Given the description of an element on the screen output the (x, y) to click on. 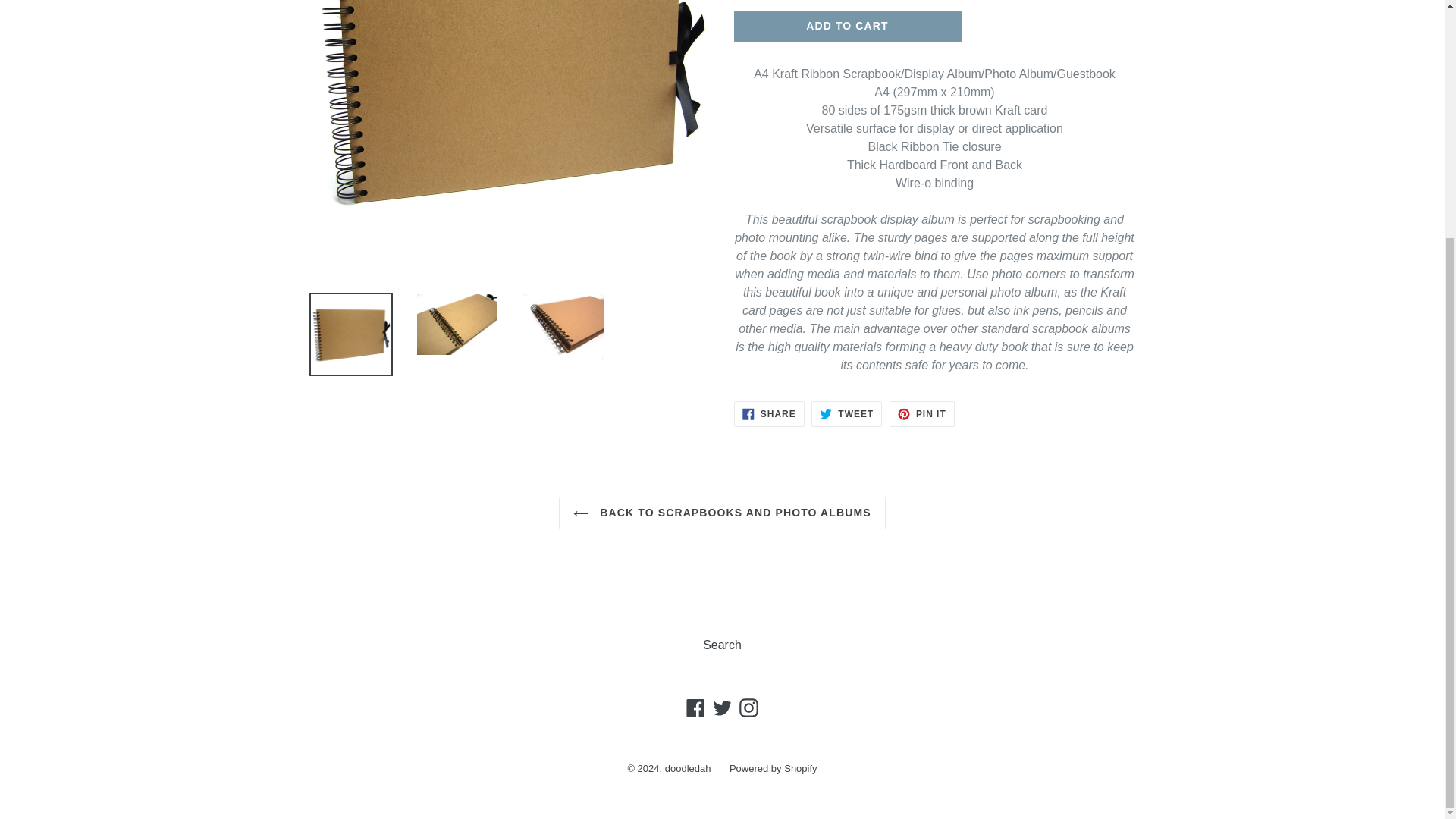
Tweet on Twitter (846, 413)
doodledah on Facebook (922, 413)
doodledah on Twitter (846, 413)
ADD TO CART (769, 413)
Twitter (695, 707)
doodledah (721, 707)
BACK TO SCRAPBOOKS AND PHOTO ALBUMS (846, 26)
Instagram (721, 707)
Search (688, 767)
Pin on Pinterest (722, 512)
doodledah on Instagram (748, 707)
Share on Facebook (722, 644)
